Given the description of an element on the screen output the (x, y) to click on. 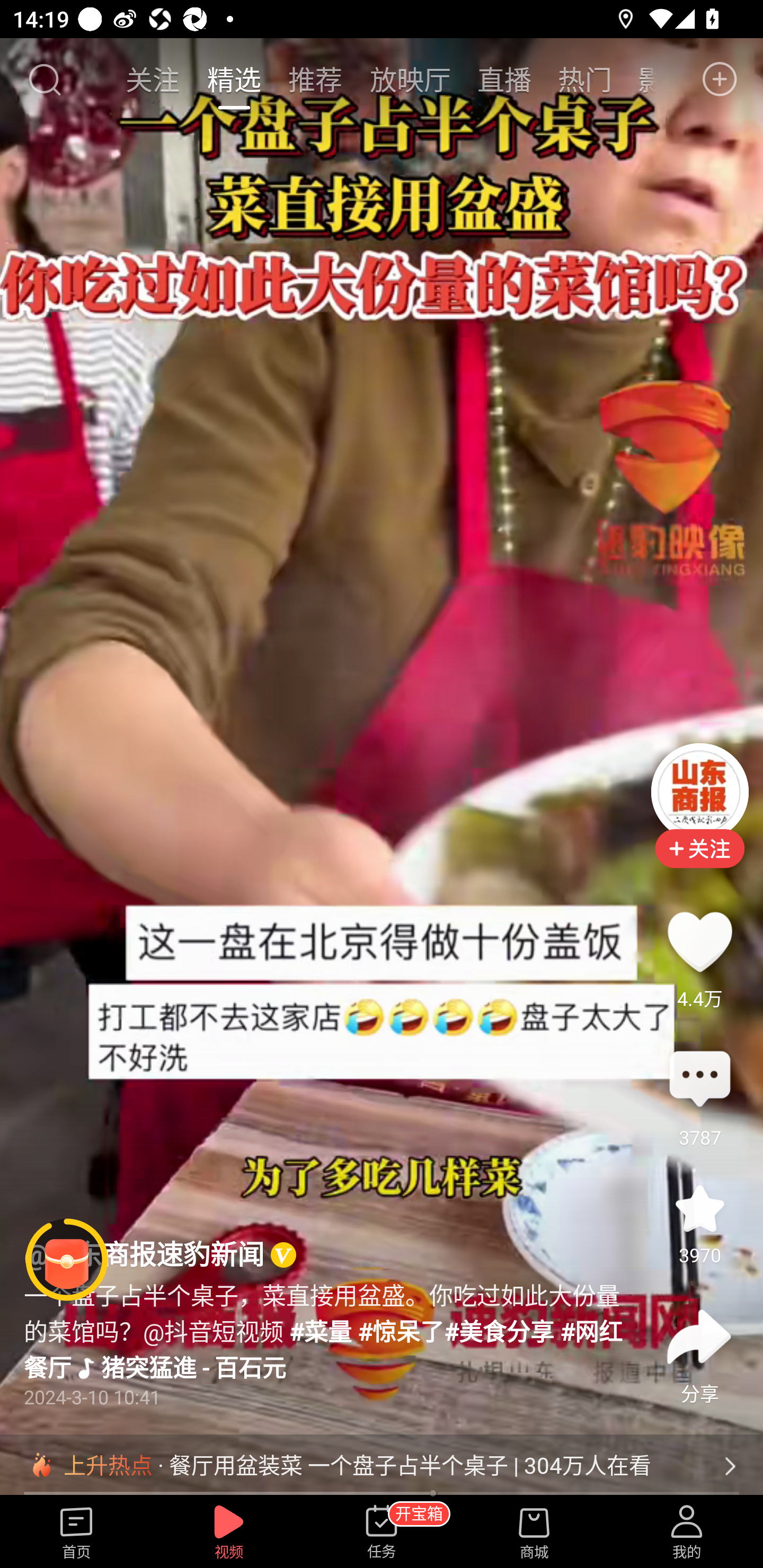
关注 (153, 79)
精选 (233, 79)
推荐 (315, 79)
放映厅 (409, 79)
直播 (504, 79)
热门 (584, 79)
搜索 (44, 79)
发布 (720, 79)
头像 (699, 791)
点赞44753 4.4万 (699, 941)
评论3787 评论 3787 (699, 1080)
收藏 3970 (699, 1207)
阅读赚金币 (66, 1259)
分享 (699, 1336)
上升热点  · 餐厅用盆装菜 一个盘子占半个桌子  | 304万人在看 (381, 1465)
首页 (76, 1532)
视频 (228, 1532)
任务 开宝箱 (381, 1532)
商城 (533, 1532)
我的 (686, 1532)
